Given the description of an element on the screen output the (x, y) to click on. 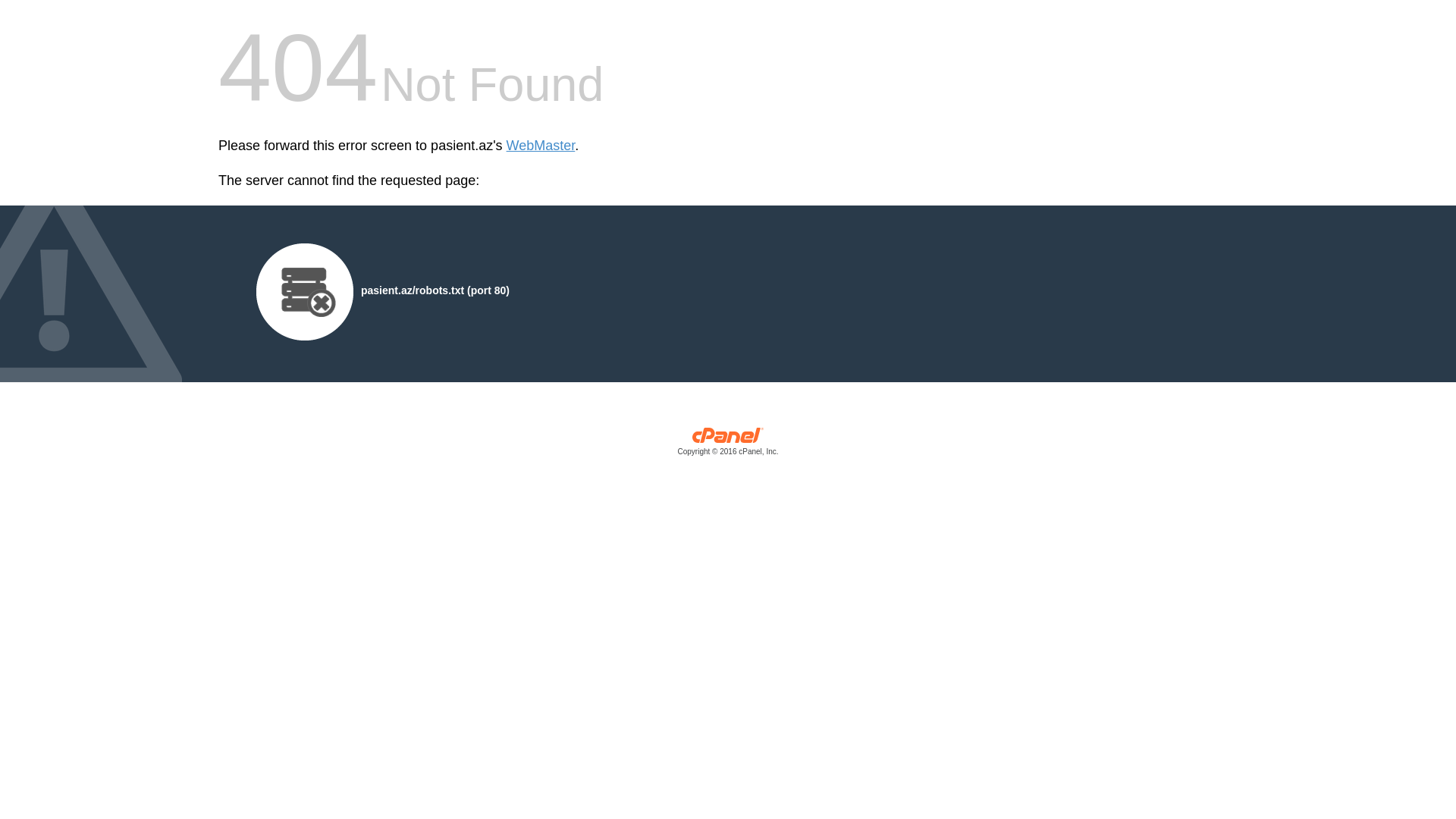
WebMaster Element type: text (540, 145)
